Given the description of an element on the screen output the (x, y) to click on. 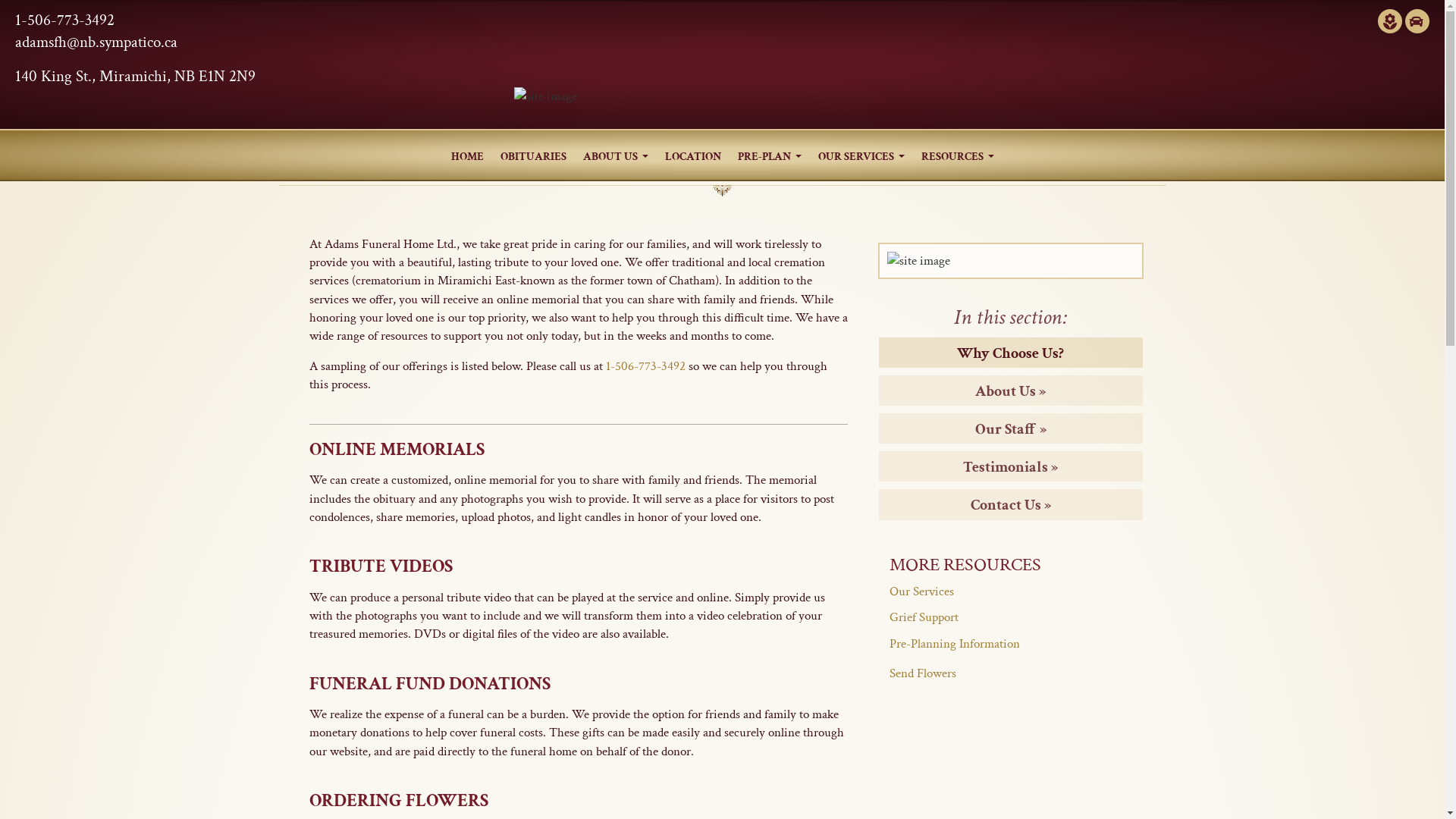
Our Staff Element type: text (1010, 429)
LOCATION Element type: text (692, 154)
Our Services Element type: text (920, 591)
Contact Us Element type: text (1010, 504)
Send Flowers Element type: text (921, 673)
Grief Support Element type: text (922, 616)
Pre-Planning Information Element type: text (953, 643)
OUR SERVICES... Element type: text (861, 154)
adamsfh@nb.sympatico.ca Element type: text (96, 41)
HOME Element type: text (467, 154)
ABOUT US... Element type: text (615, 154)
PRE-PLAN... Element type: text (769, 154)
Directions Element type: hover (1417, 21)
RESOURCES... Element type: text (957, 154)
Testimonials Element type: text (1010, 466)
OBITUARIES Element type: text (532, 154)
Why Choose Us? Element type: text (1010, 353)
About Us Element type: text (1010, 391)
1-506-773-3492 Element type: text (64, 19)
local_florist Element type: text (1389, 21)
1-506-773-3492 Element type: text (644, 365)
